Given the description of an element on the screen output the (x, y) to click on. 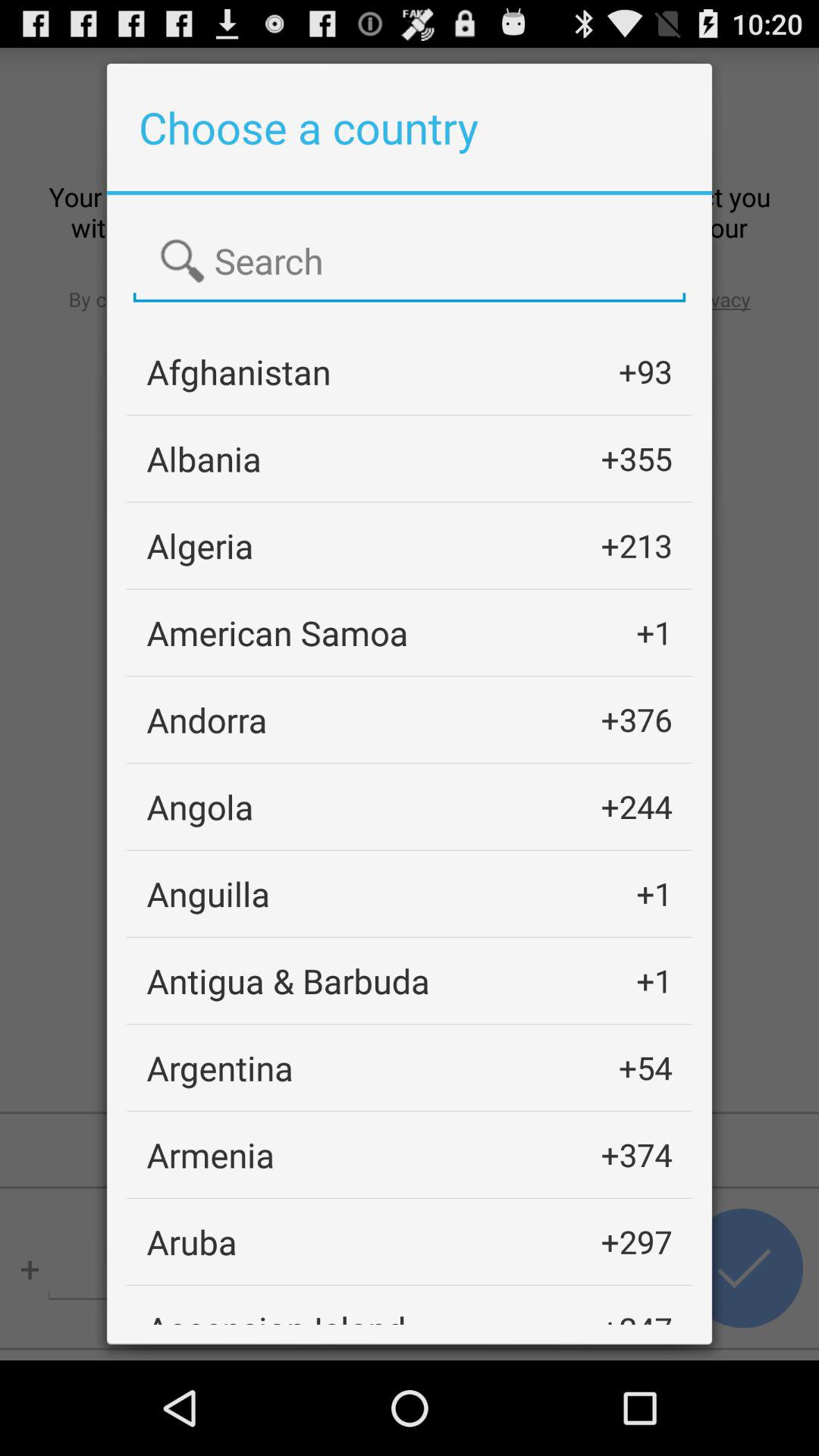
flip until american samoa (277, 632)
